Given the description of an element on the screen output the (x, y) to click on. 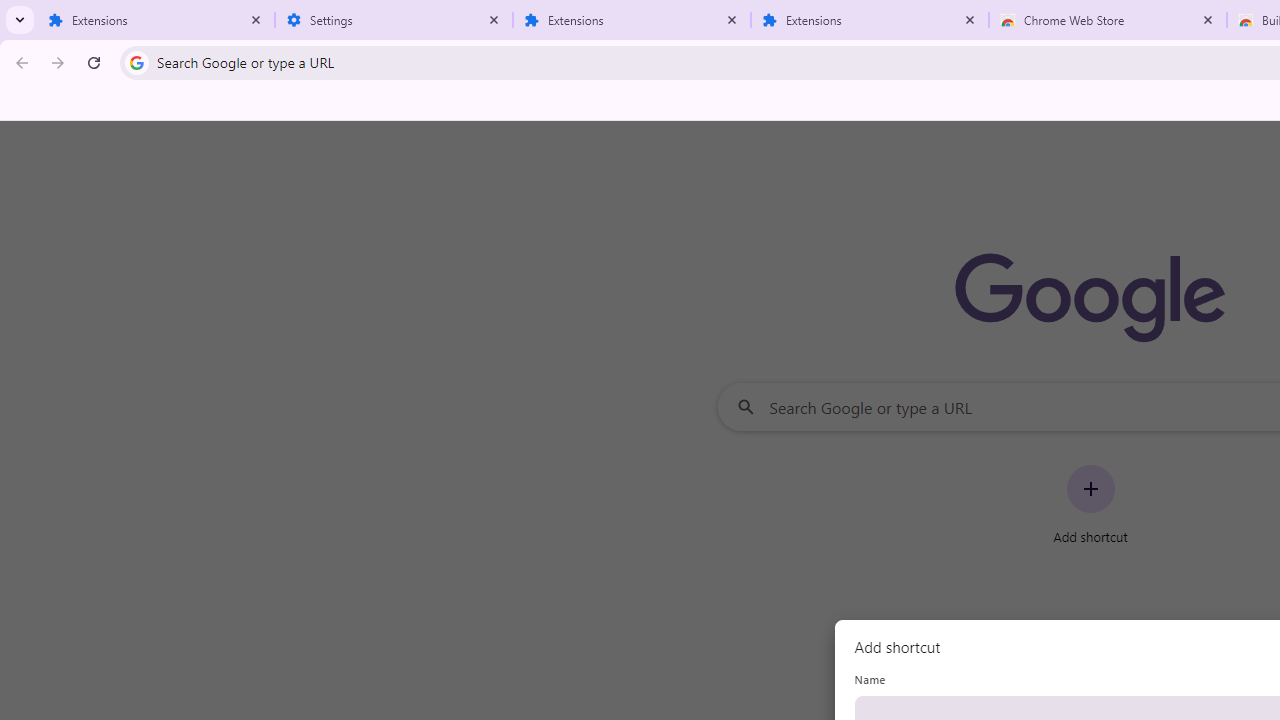
Extensions (632, 20)
Chrome Web Store (1108, 20)
Extensions (870, 20)
Settings (394, 20)
Extensions (156, 20)
